Given the description of an element on the screen output the (x, y) to click on. 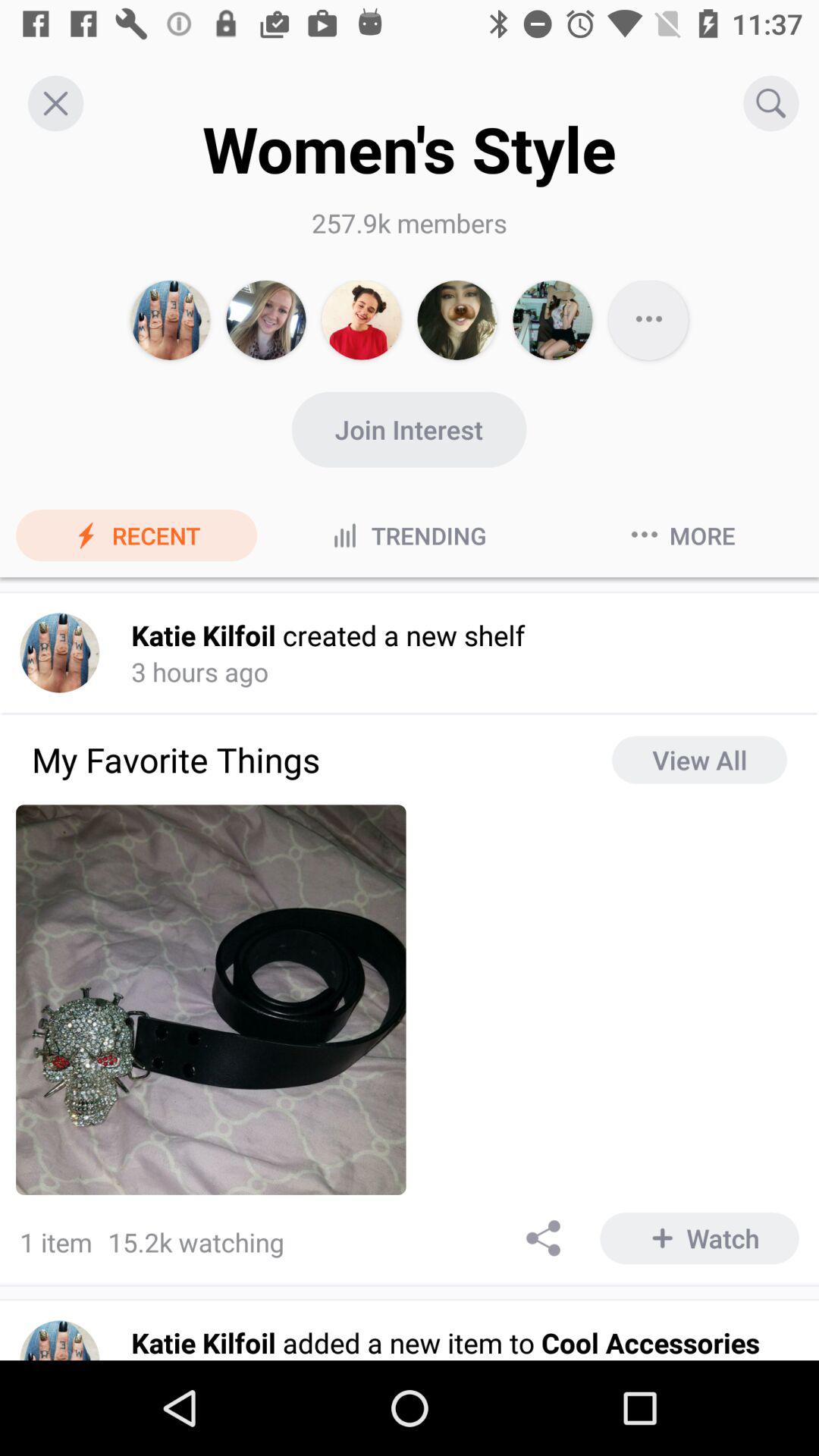
share the article (544, 1238)
